Given the description of an element on the screen output the (x, y) to click on. 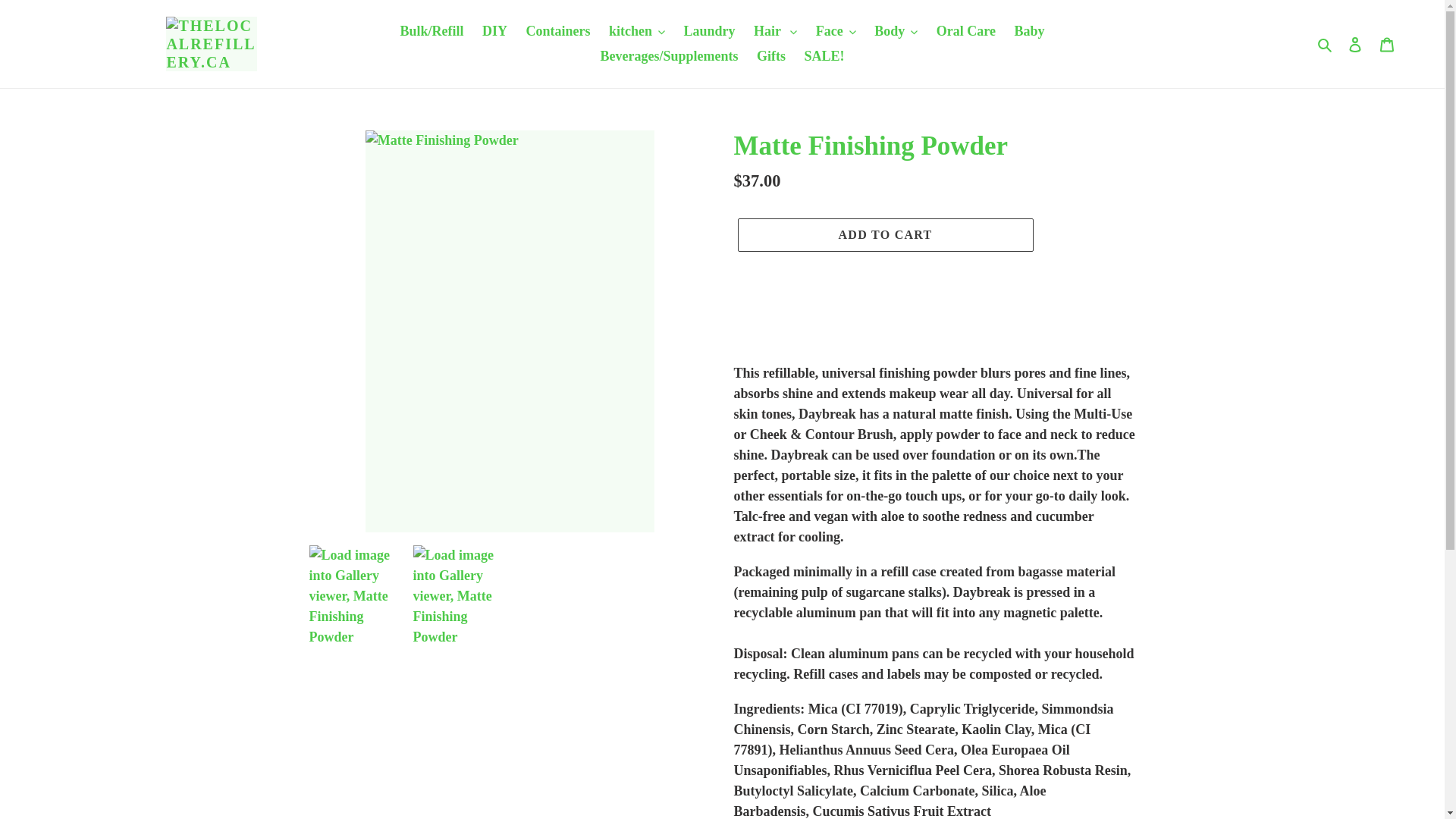
Containers (558, 31)
Log in (1355, 43)
Body (895, 31)
DIY (494, 31)
Search (1326, 44)
Baby (1028, 31)
Face (835, 31)
Hair (775, 31)
Gifts (771, 56)
Laundry (709, 31)
Cart (1387, 43)
Oral Care (965, 31)
SALE! (823, 56)
kitchen (636, 31)
